Given the description of an element on the screen output the (x, y) to click on. 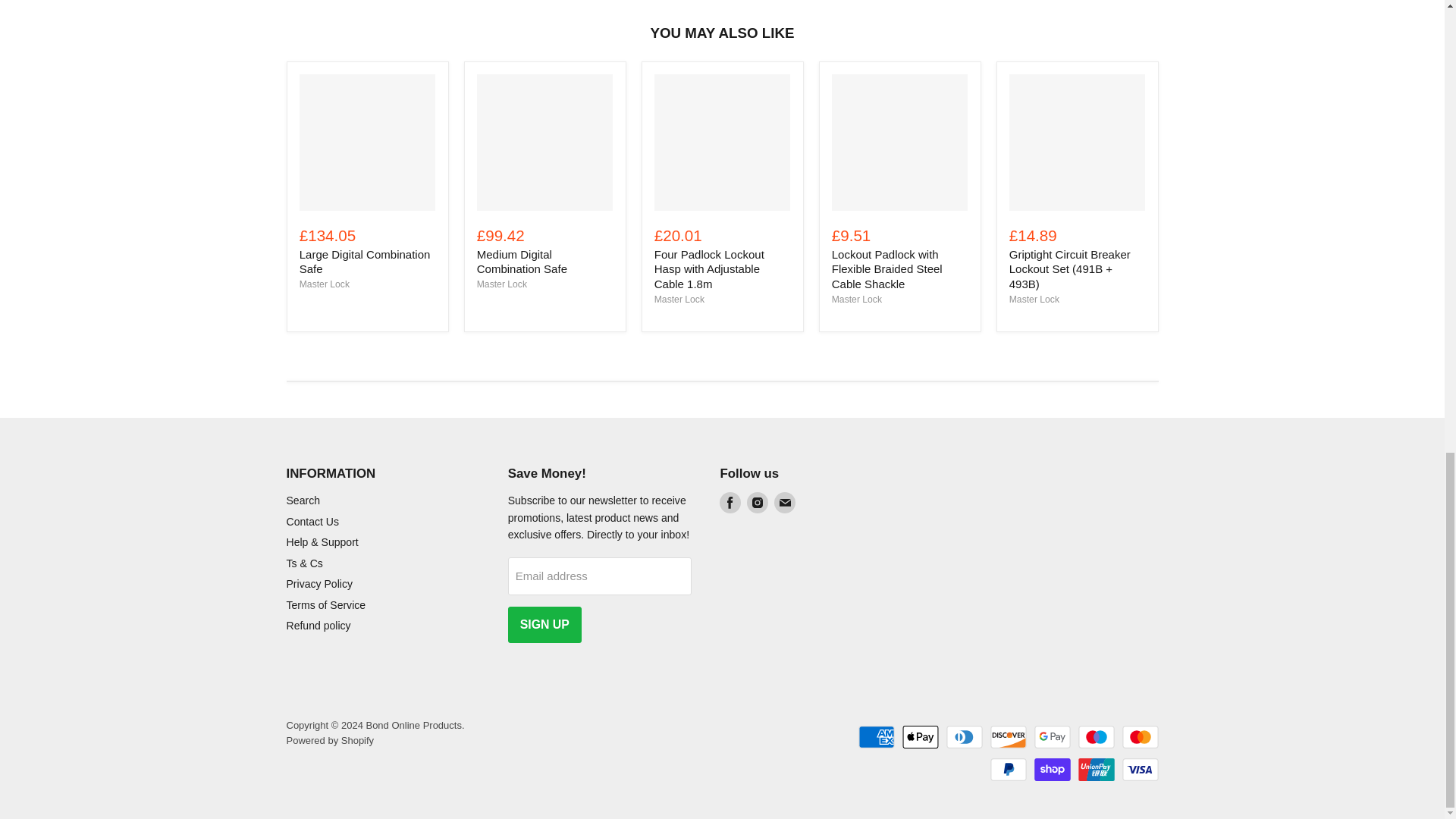
Master Lock (1034, 299)
Master Lock (856, 299)
Master Lock (502, 284)
Facebook (730, 502)
Email (784, 502)
Master Lock (324, 284)
Master Lock (678, 299)
Instagram (757, 502)
